Given the description of an element on the screen output the (x, y) to click on. 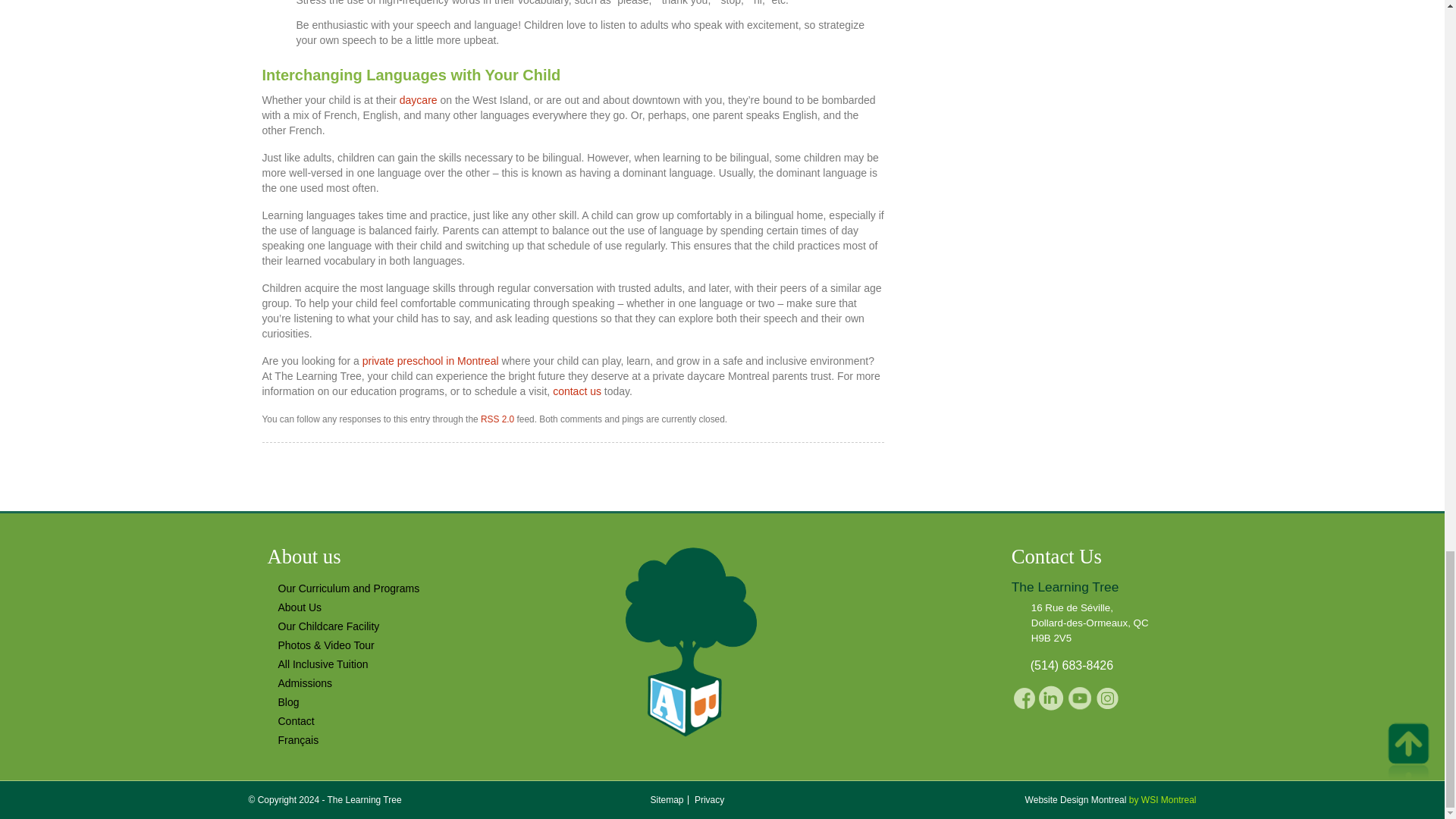
contact us (577, 390)
RSS 2.0 (496, 419)
daycare (418, 100)
private preschool in Montreal (430, 360)
